Given the description of an element on the screen output the (x, y) to click on. 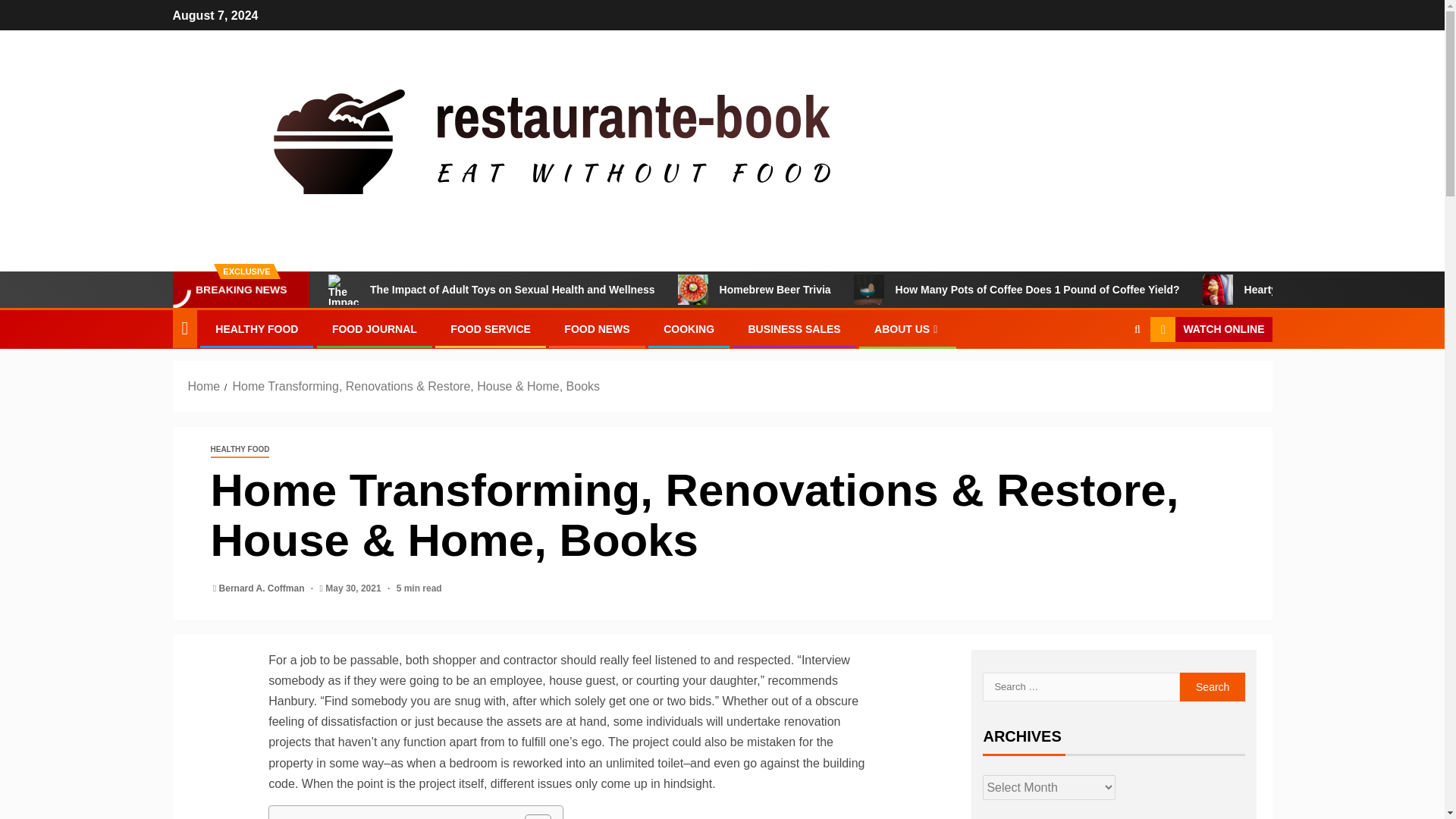
How Many Pots of Coffee Does 1 Pound of Coffee Yield? (868, 289)
Bernard A. Coffman (263, 588)
WATCH ONLINE (1210, 329)
BUSINESS SALES (794, 328)
Hearty Grilled Beef Recipes That Are Truly Satisfying (1217, 289)
FOOD NEWS (596, 328)
Homebrew Beer Trivia (692, 289)
Homebrew Beer Trivia (754, 289)
Search (1212, 686)
FOOD JOURNAL (373, 328)
FOOD SERVICE (490, 328)
Search (1212, 686)
How Many Pots of Coffee Does 1 Pound of Coffee Yield? (1017, 289)
COOKING (688, 328)
Search (1107, 375)
